Given the description of an element on the screen output the (x, y) to click on. 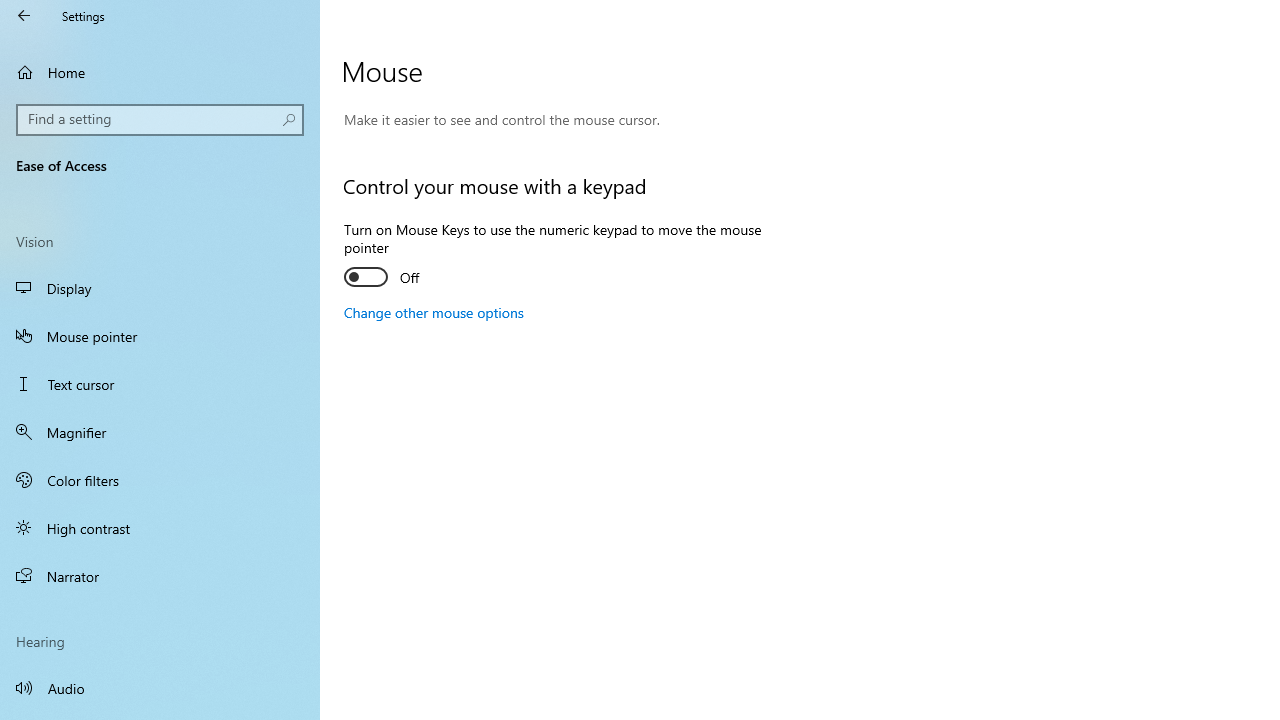
Mouse pointer (160, 335)
Back (24, 15)
Color filters (160, 479)
Text cursor (160, 384)
Home (160, 71)
Change other mouse options (433, 312)
Audio (160, 687)
High contrast (160, 527)
Search box, Find a setting (160, 119)
Narrator (160, 575)
Magnifier (160, 431)
Display (160, 287)
